Given the description of an element on the screen output the (x, y) to click on. 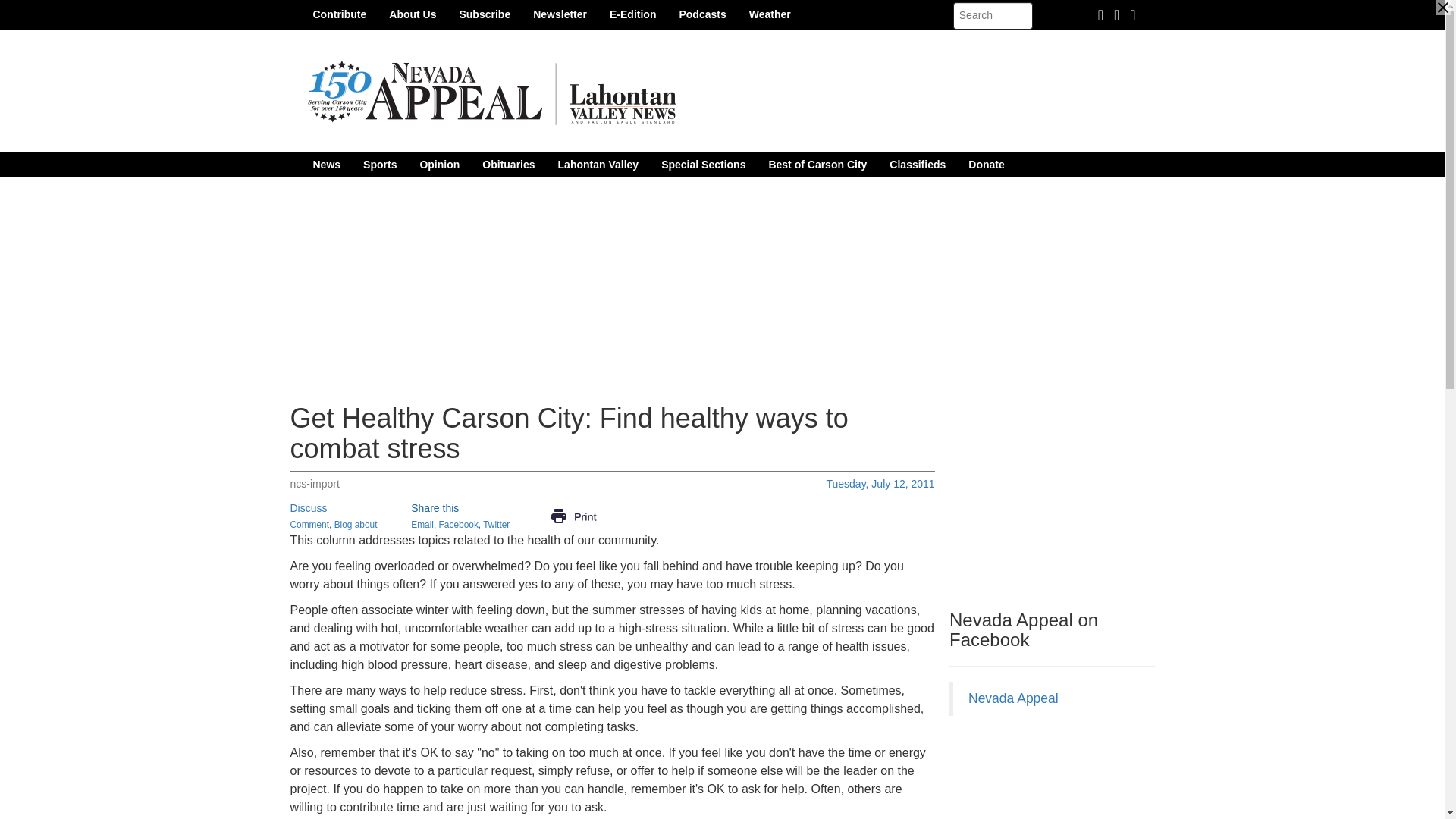
Sports (379, 164)
Podcasts (701, 14)
Printer Friendly and PDF (572, 515)
Obituaries (508, 164)
Lahontan Valley (598, 164)
E-Edition (632, 14)
Classifieds (916, 164)
Contribute (339, 14)
Subscribe (483, 14)
About Us (411, 14)
News (326, 164)
Weather (770, 14)
Newsletter (559, 14)
Special Sections (703, 164)
Best of Carson City (817, 164)
